Given the description of an element on the screen output the (x, y) to click on. 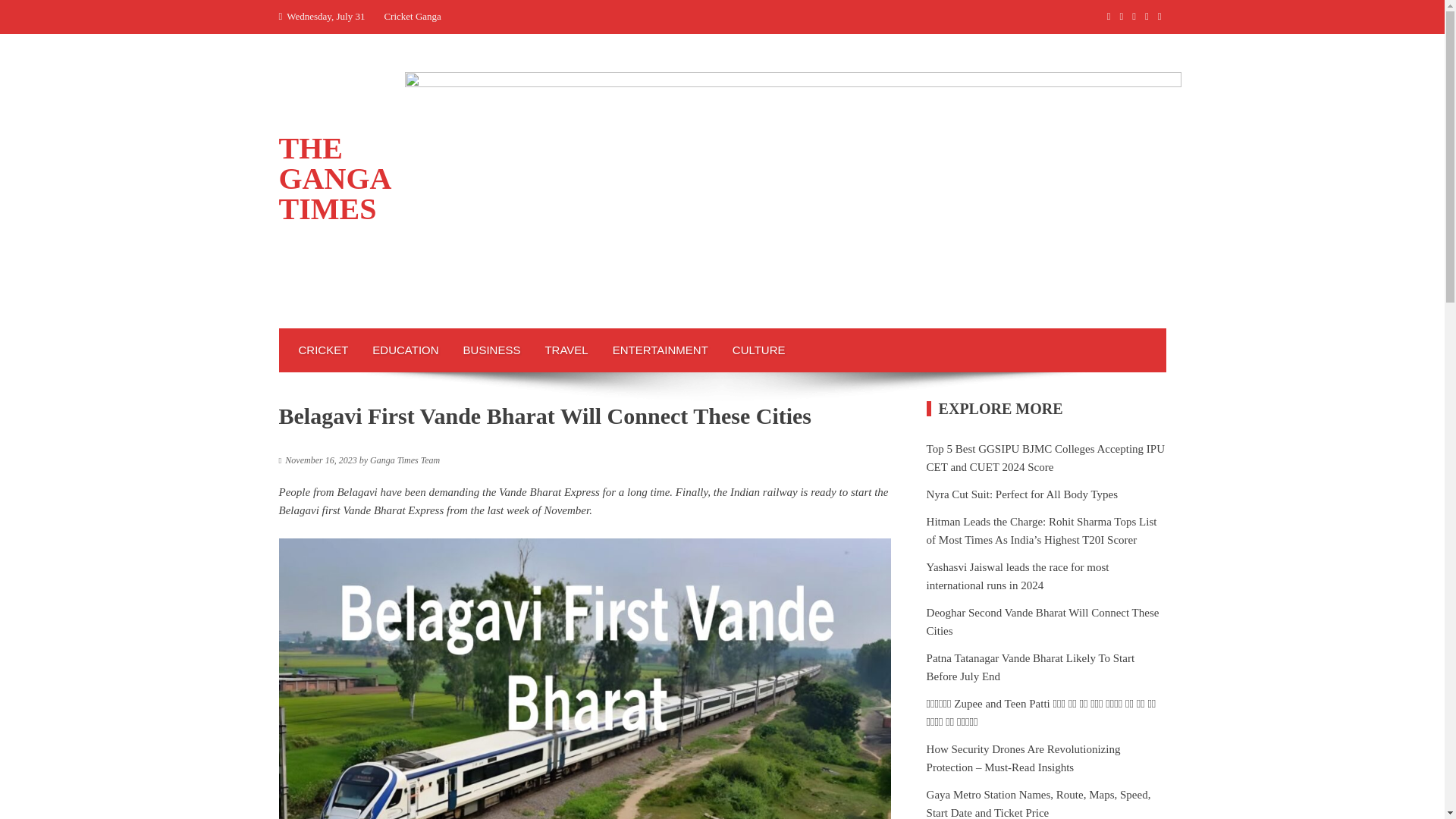
THE GANGA TIMES (334, 178)
BUSINESS (491, 350)
CULTURE (758, 350)
CRICKET (323, 350)
ENTERTAINMENT (659, 350)
EDUCATION (404, 350)
Cricket Ganga (412, 16)
TRAVEL (565, 350)
Nyra Cut Suit: Perfect for All Body Types (1022, 494)
